Given the description of an element on the screen output the (x, y) to click on. 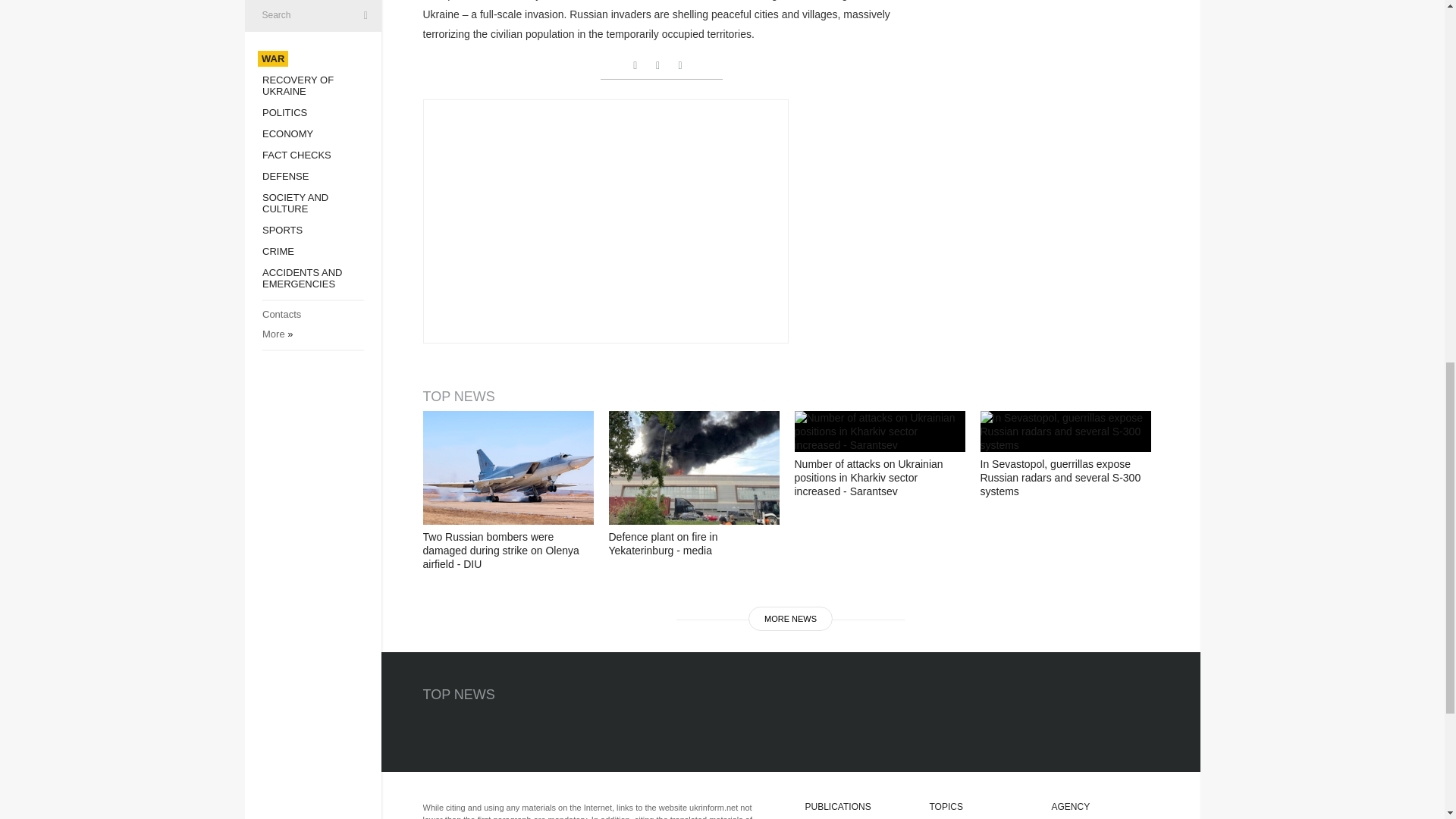
Defence plant on fire in Yekaterinburg - media (693, 467)
